Given the description of an element on the screen output the (x, y) to click on. 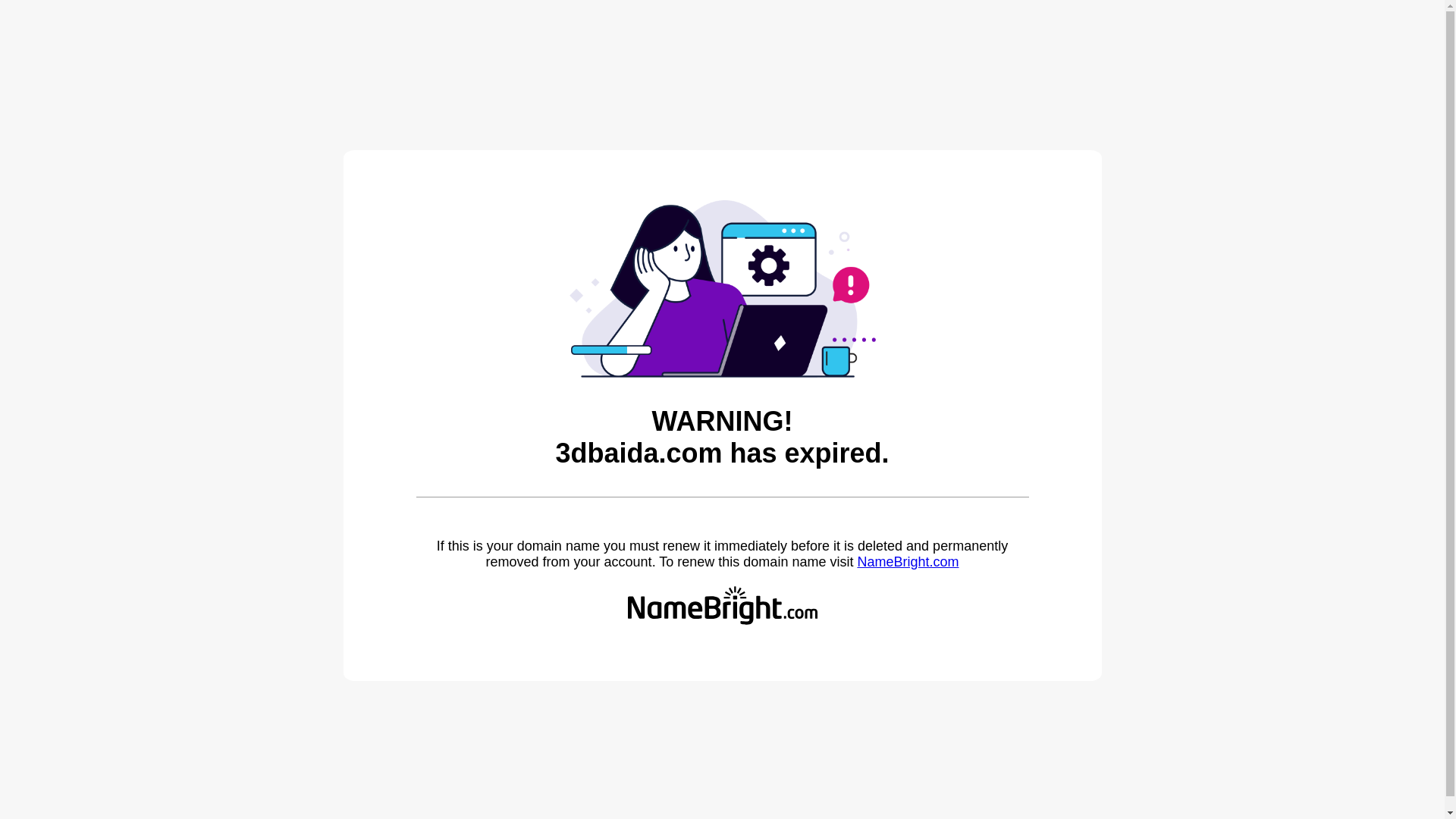
NameBright.com Element type: text (907, 561)
